Given the description of an element on the screen output the (x, y) to click on. 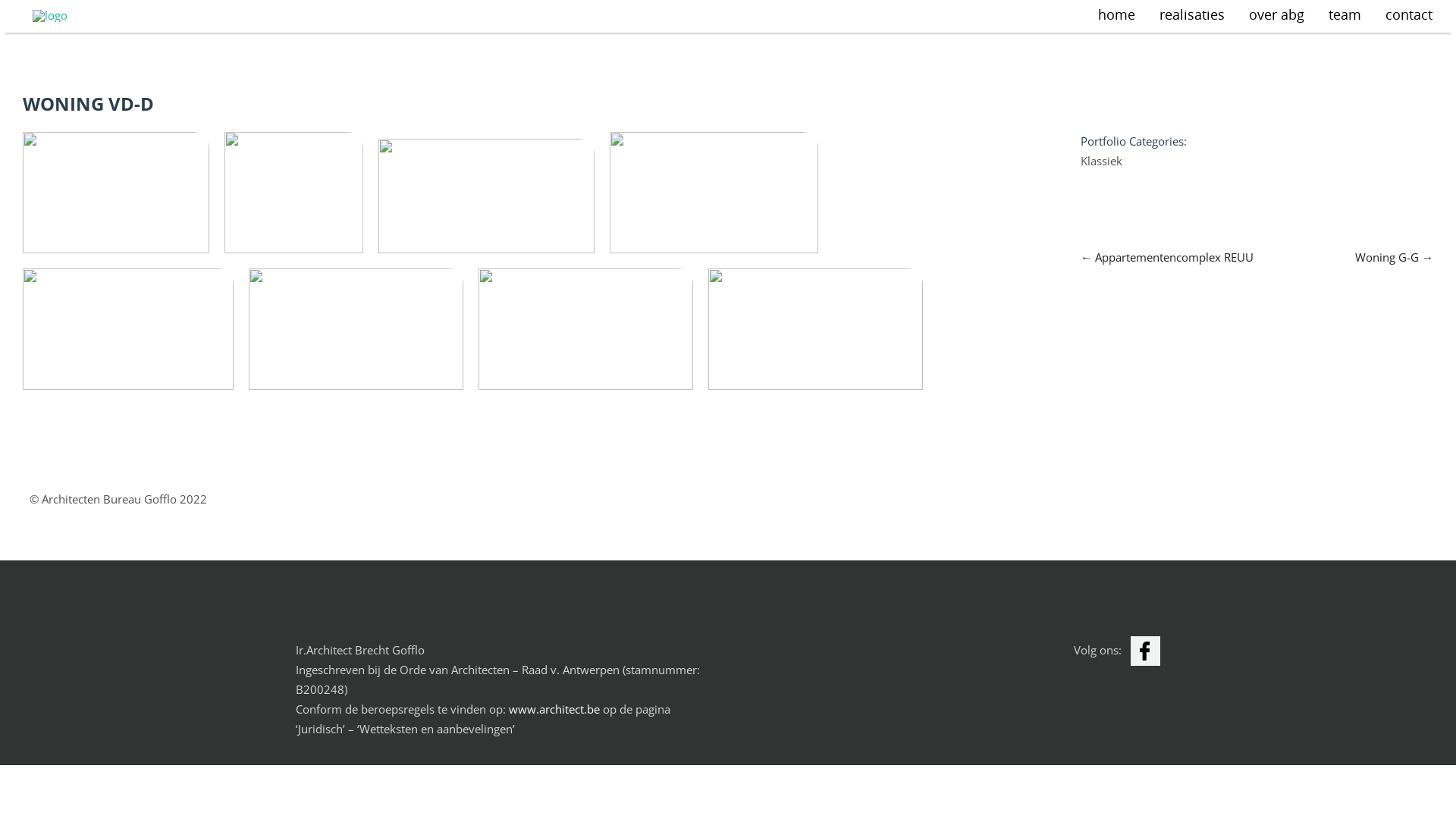
home Element type: text (1116, 16)
team Element type: text (1344, 16)
realisaties Element type: text (1191, 16)
contact Element type: text (1408, 16)
over abg Element type: text (1276, 16)
www.architect.be Element type: text (553, 708)
